Given the description of an element on the screen output the (x, y) to click on. 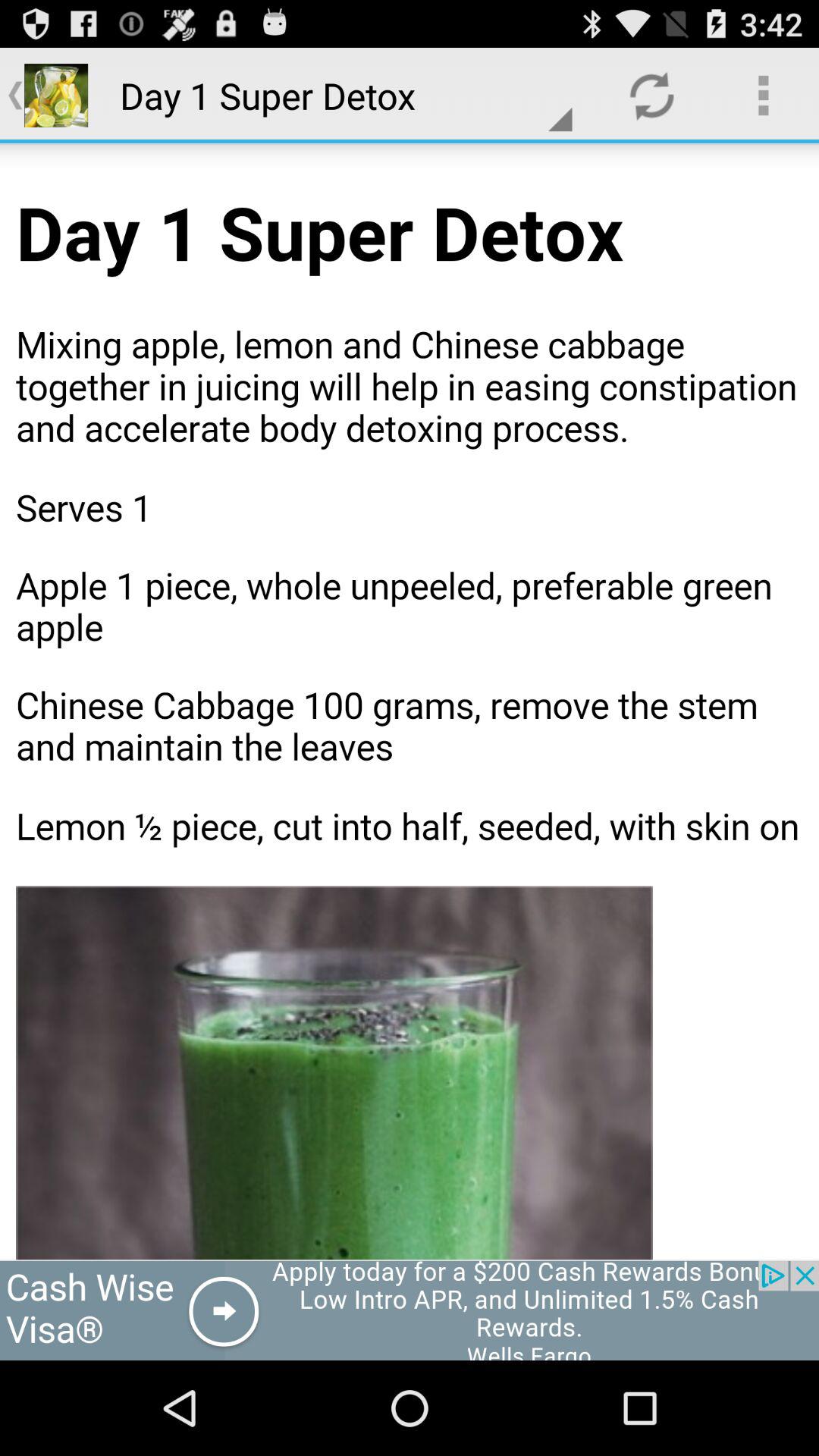
description (409, 701)
